Given the description of an element on the screen output the (x, y) to click on. 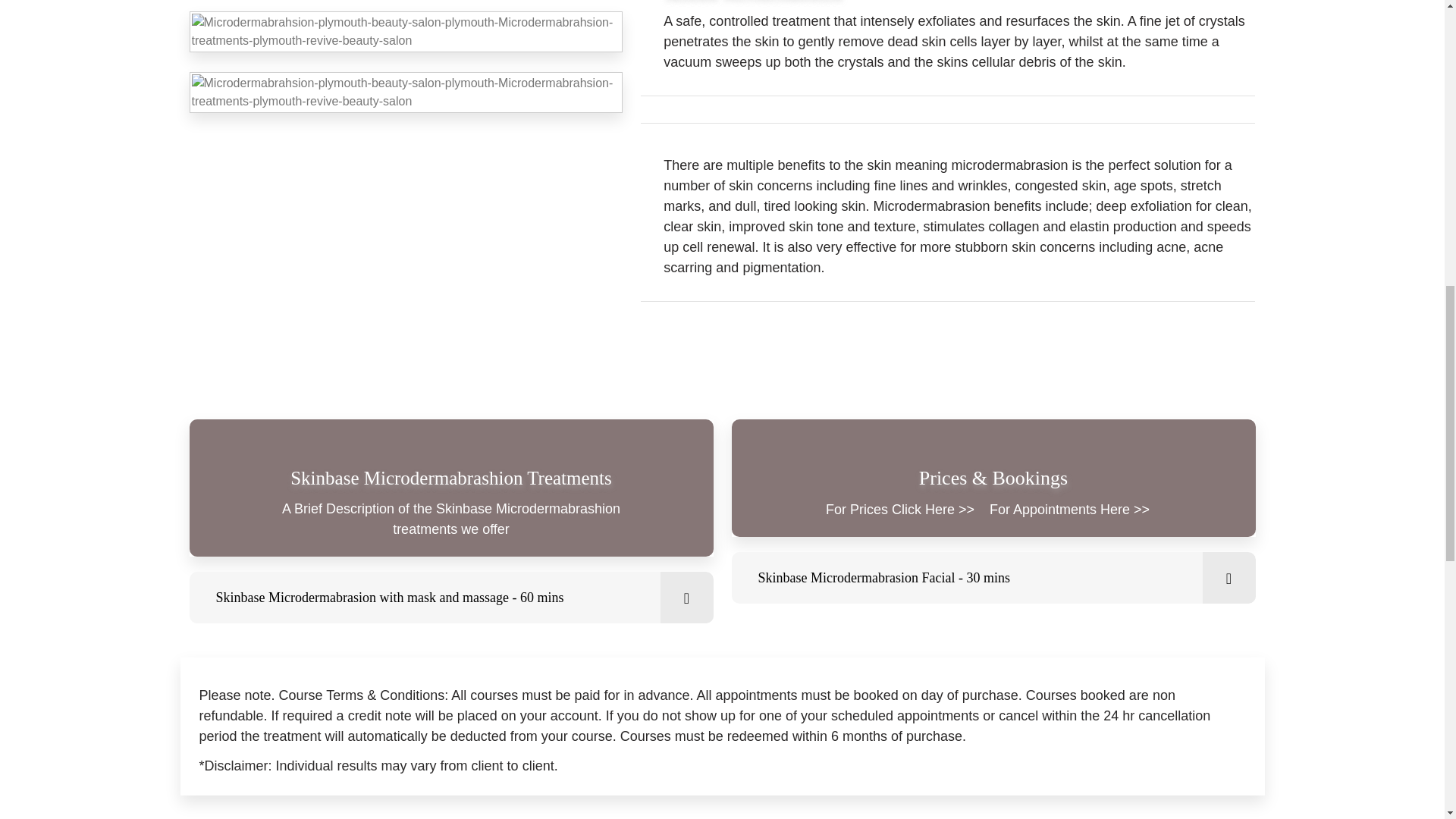
Skinbase Microdermabrasion with mask and massage - 60 mins (451, 597)
Skinbase Microdermabrasion Facial - 30 mins (992, 577)
